Given the description of an element on the screen output the (x, y) to click on. 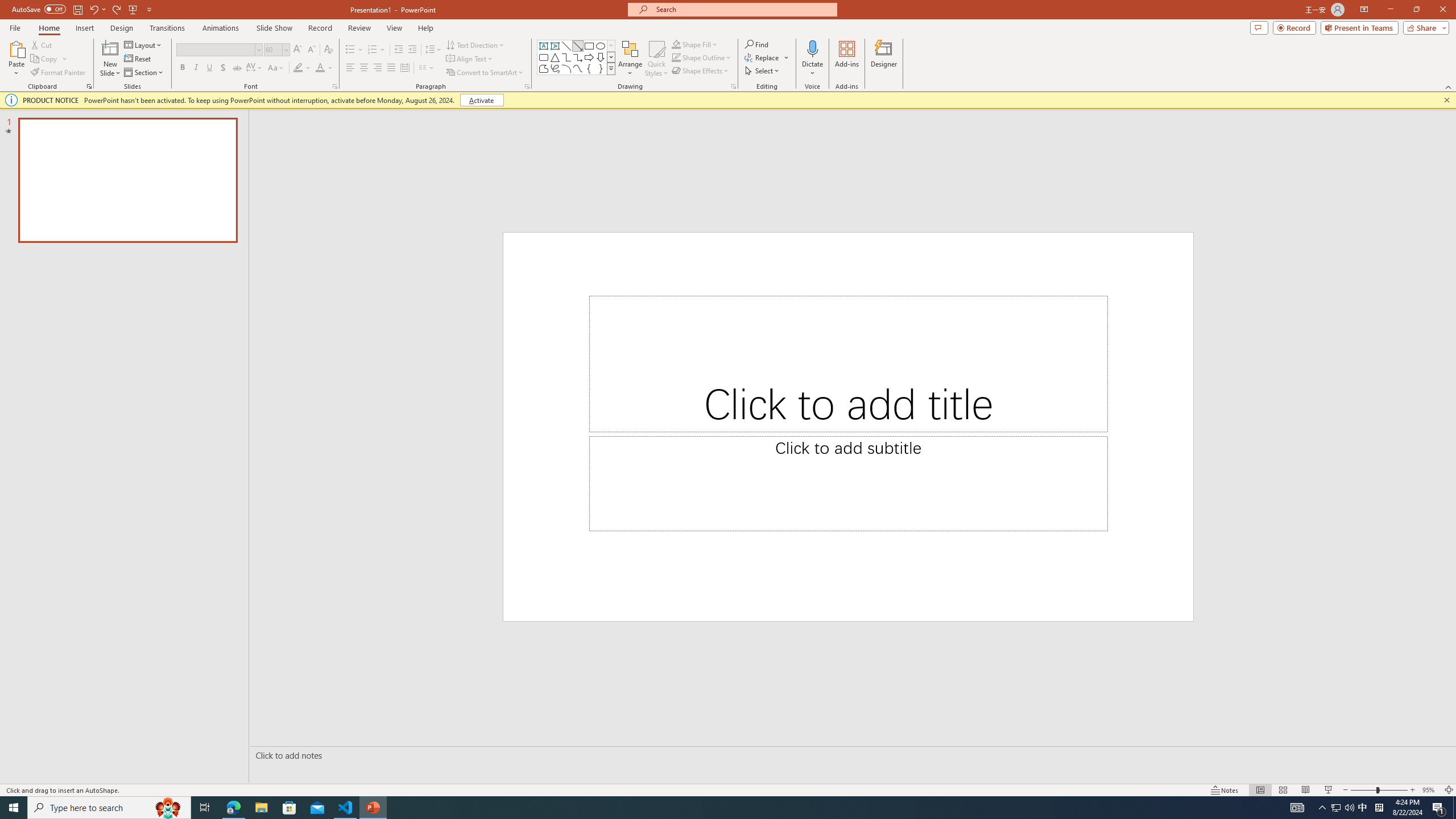
Activate (481, 100)
